Given the description of an element on the screen output the (x, y) to click on. 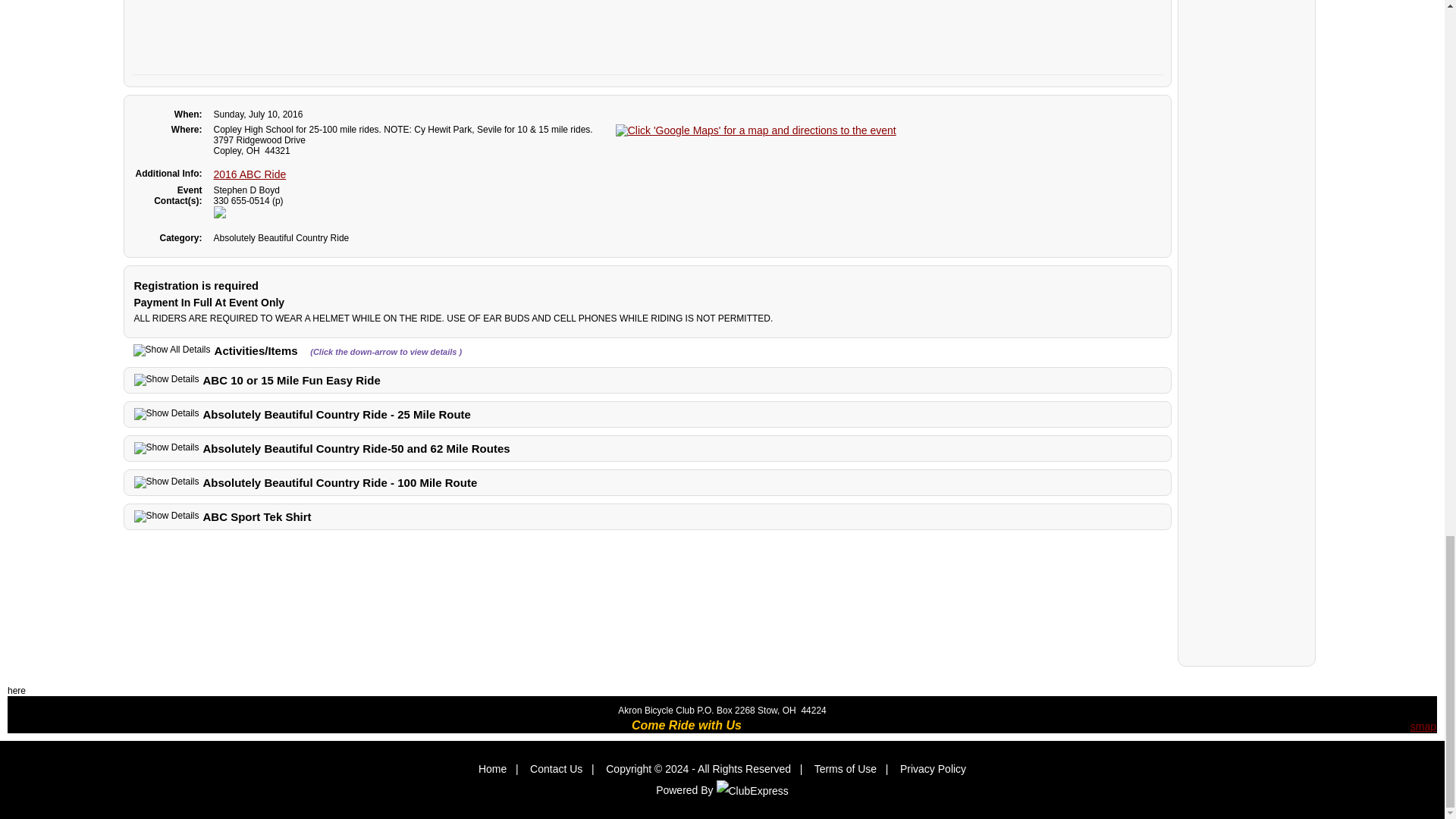
Show All Details (172, 349)
Show Details (165, 448)
Click 'Google Maps' for a map and directions to the event (755, 130)
Show Details (165, 379)
Show Details (165, 413)
Show Details (165, 481)
Show Details (165, 516)
